Given the description of an element on the screen output the (x, y) to click on. 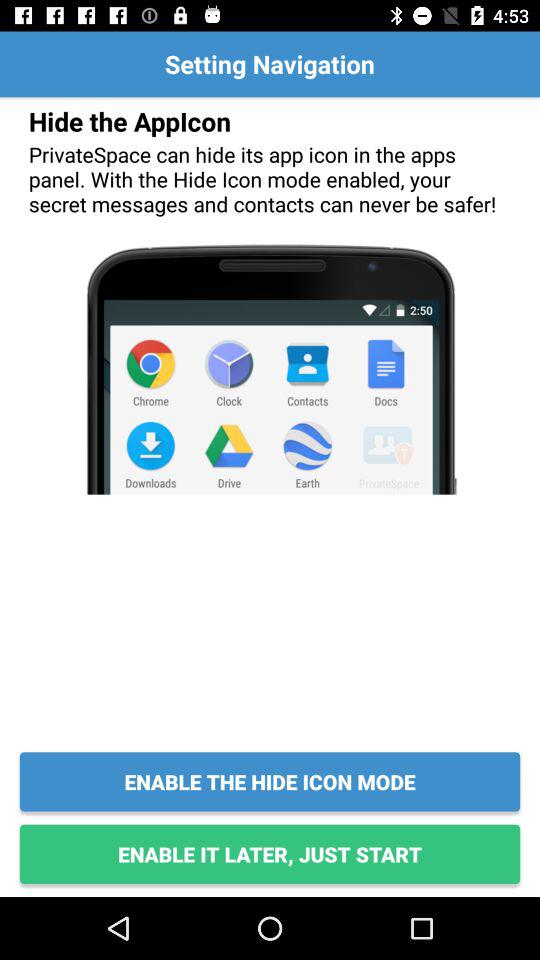
turn on the item below the enable the hide (269, 853)
